Given the description of an element on the screen output the (x, y) to click on. 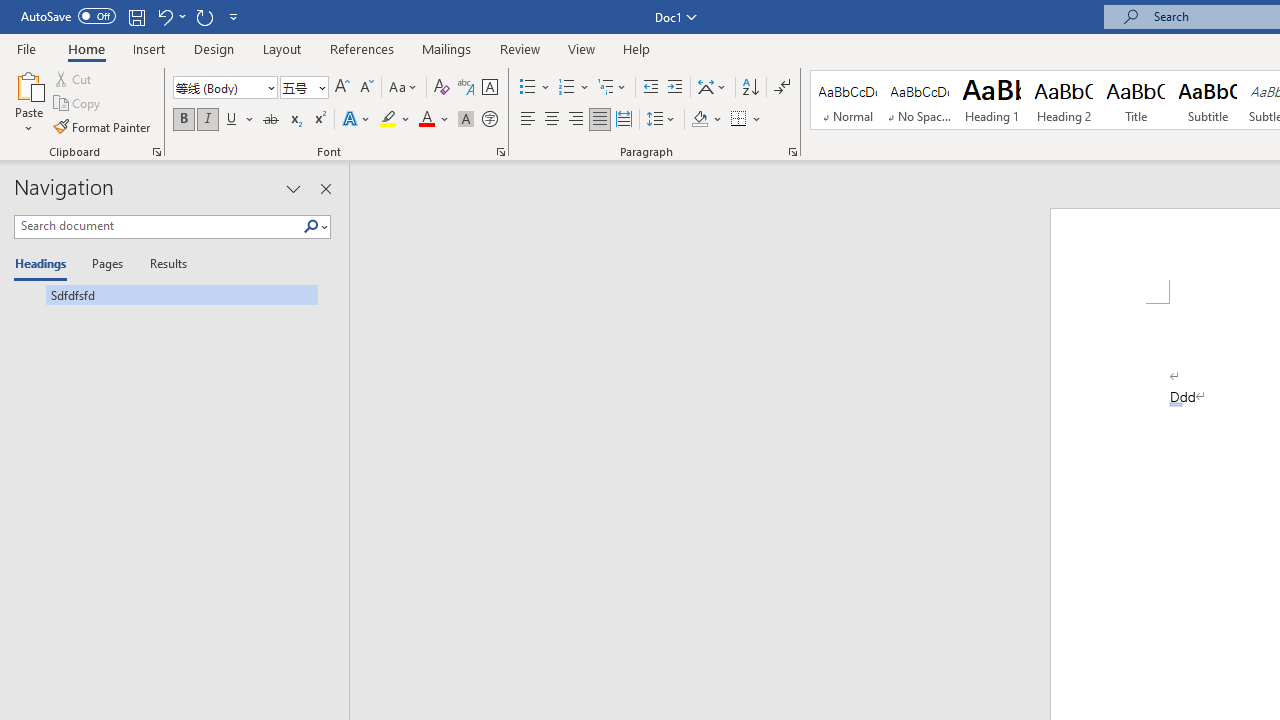
Numbering (566, 87)
Character Shading (465, 119)
Undo Apply Quick Style (170, 15)
Sort... (750, 87)
AutoSave (68, 16)
Results (161, 264)
Bold (183, 119)
Shrink Font (365, 87)
Numbering (573, 87)
Format Painter (103, 126)
Font... (500, 151)
View (582, 48)
Office Clipboard... (156, 151)
Subscript (294, 119)
